Given the description of an element on the screen output the (x, y) to click on. 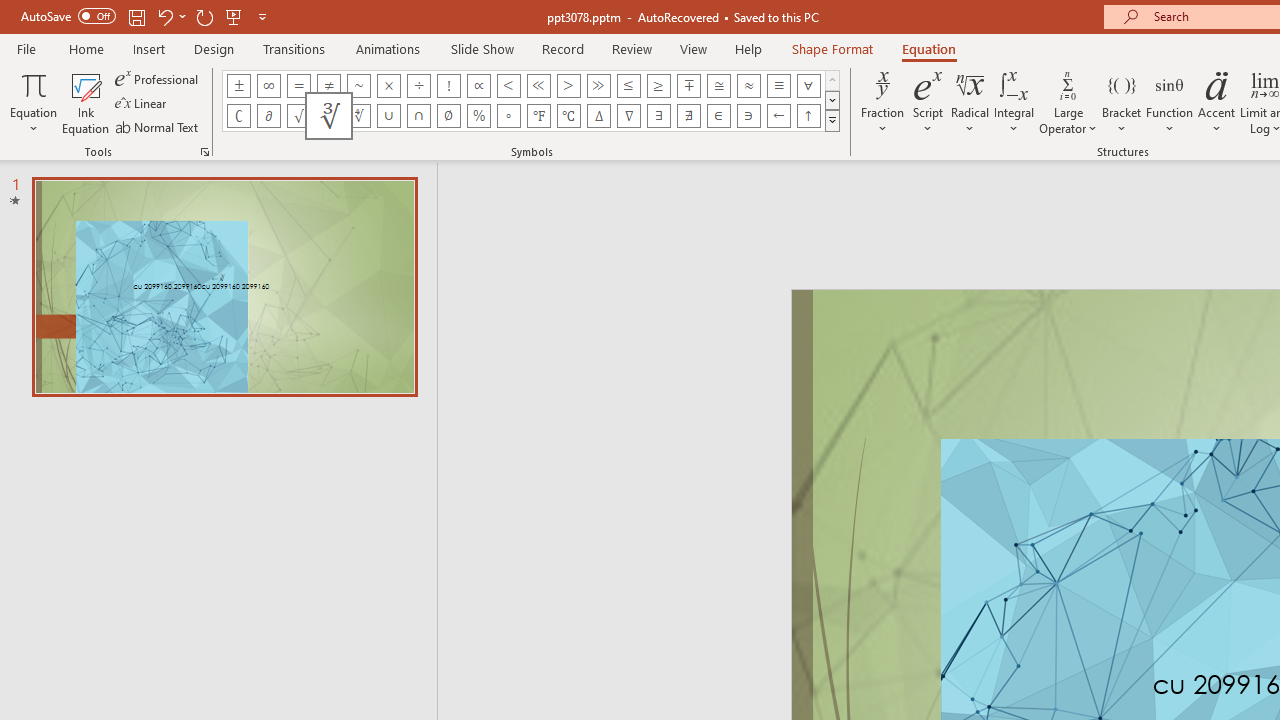
Equation Symbol Contains as Member (748, 115)
Equation Symbol Much Greater Than (598, 85)
Equation Symbol For All (808, 85)
Fraction (882, 102)
Equation Symbol Factorial (448, 85)
Equation Symbol Plus Minus (238, 85)
Equation Symbol Less Than or Equal To (628, 85)
